Given the description of an element on the screen output the (x, y) to click on. 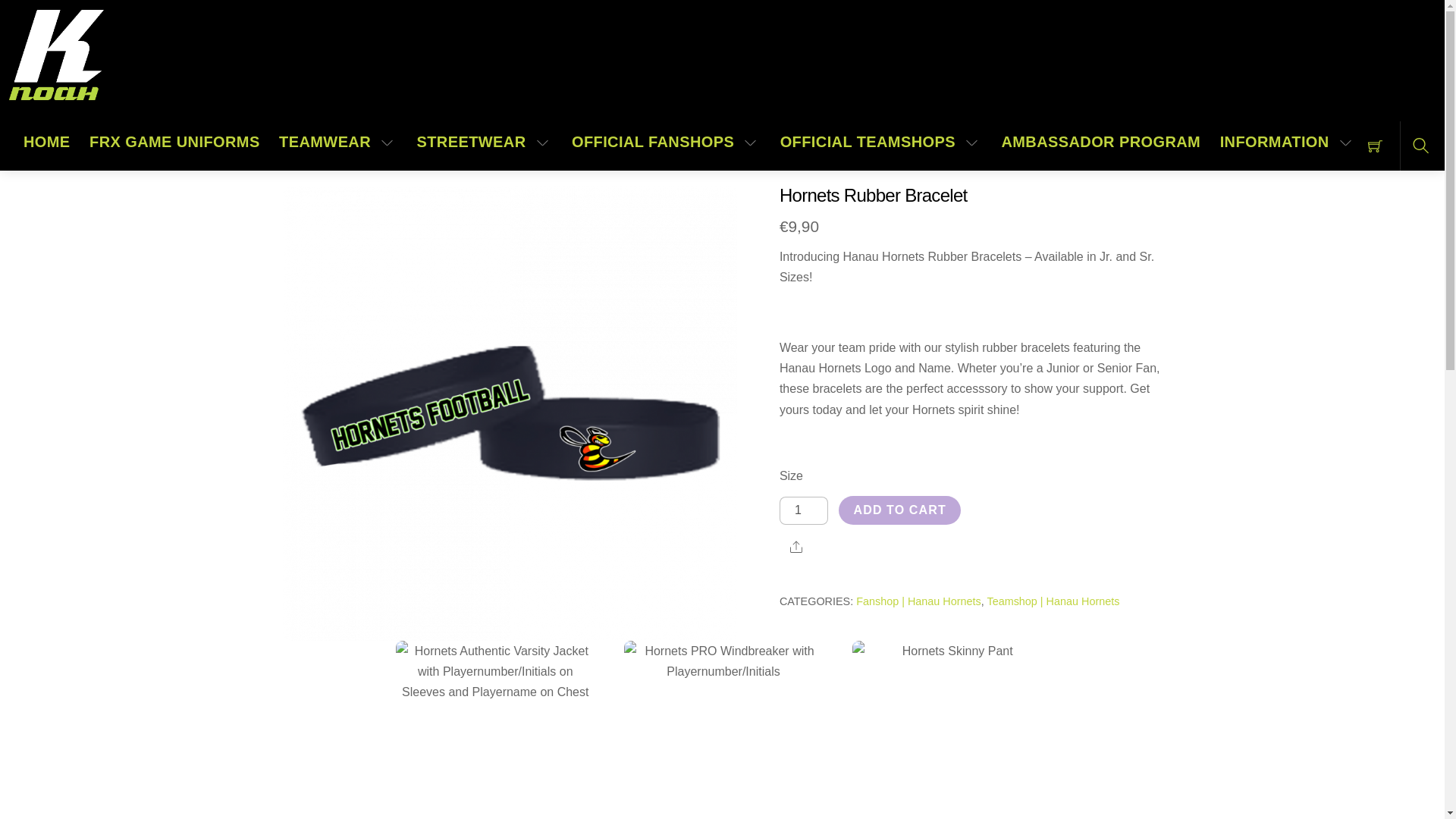
OFFICIAL TEAMSHOPS (881, 141)
varsity-jacket2-front-with-name (495, 729)
TEAMWEAR (338, 141)
FRX GAME UNIFORMS (174, 141)
skinny-pant-front (951, 729)
OFFICIAL FANSHOPS (666, 141)
HOME (47, 141)
KNoah (56, 55)
STREETWEAR (484, 141)
